Given the description of an element on the screen output the (x, y) to click on. 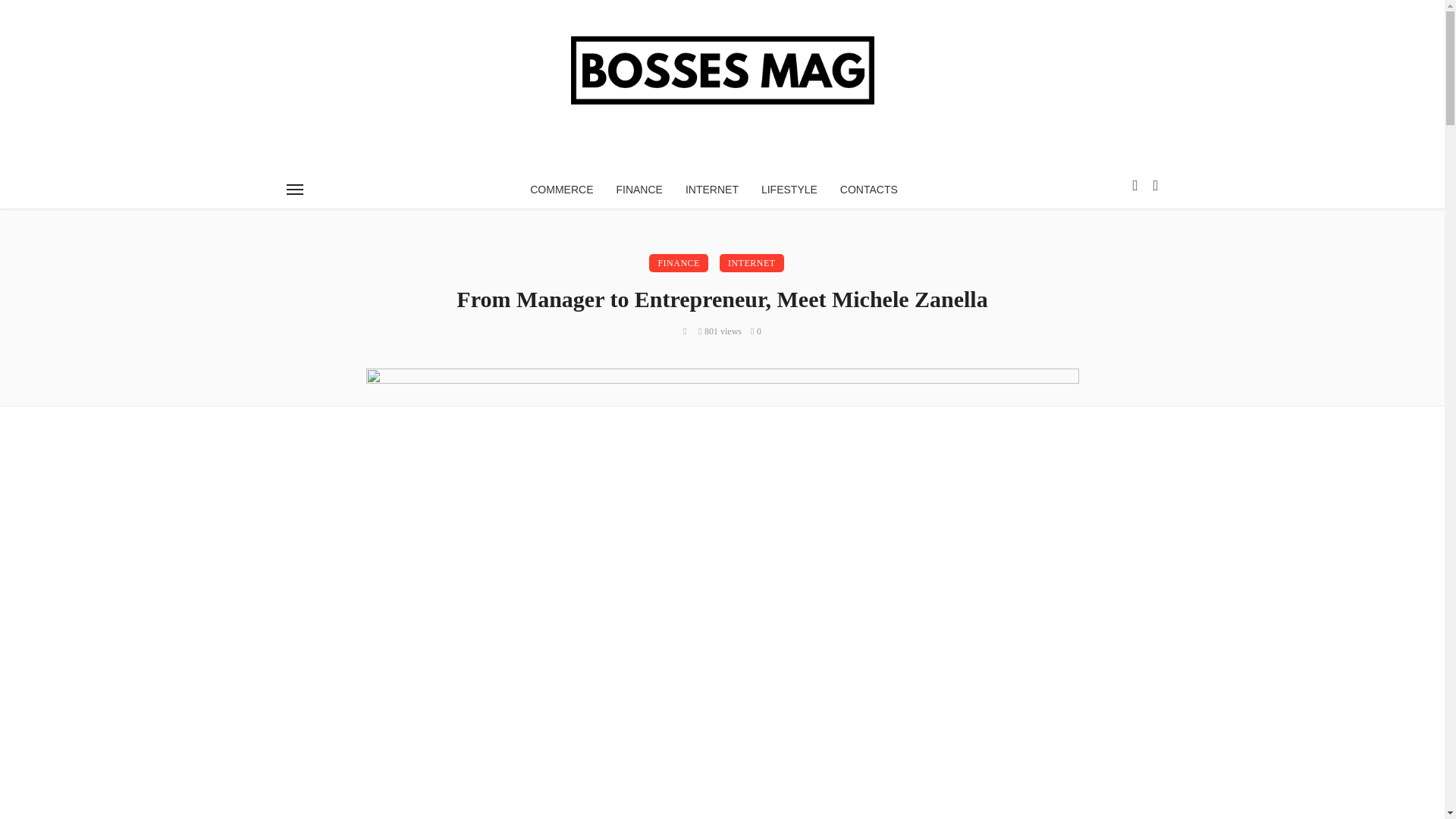
LIFESTYLE (788, 189)
COMMERCE (561, 189)
INTERNET (711, 189)
FINANCE (638, 189)
0 Comments (756, 330)
